Given the description of an element on the screen output the (x, y) to click on. 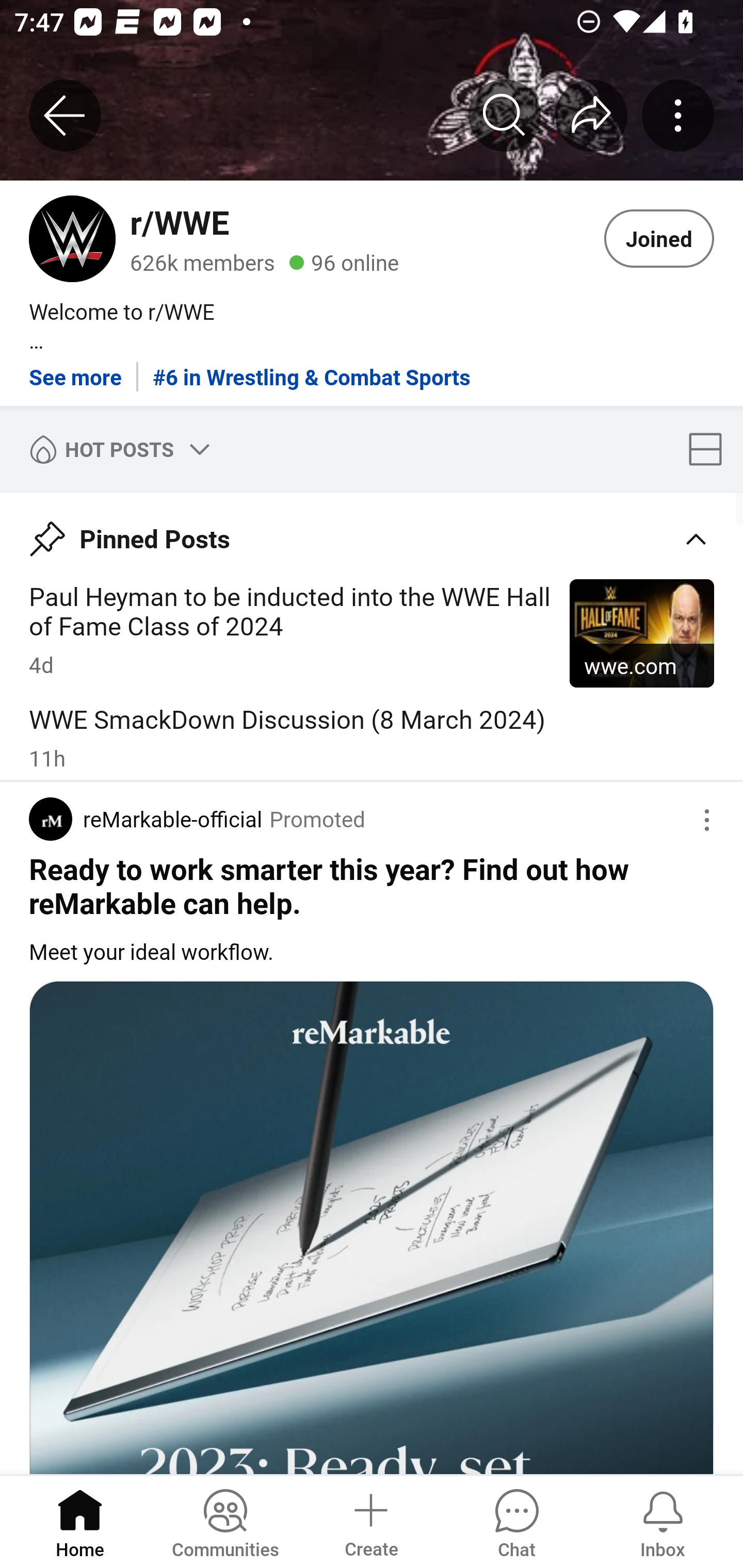
Back (64, 115)
Search r/﻿WWE (504, 115)
Share r/﻿WWE (591, 115)
More community actions (677, 115)
See more (74, 369)
#6 in Wrestling & Combat Sports (312, 369)
HOT POSTS Sort by Hot posts (115, 449)
Card display (711, 449)
Pin Pinned Posts Caret (371, 532)
WWE SmackDown Discussion (8 March 2024) 11h (371, 736)
Author reMarkable-official (145, 819)
Image (371, 1226)
Home (80, 1520)
Communities (225, 1520)
Create a post Create (370, 1520)
Chat (516, 1520)
Inbox (662, 1520)
